Given the description of an element on the screen output the (x, y) to click on. 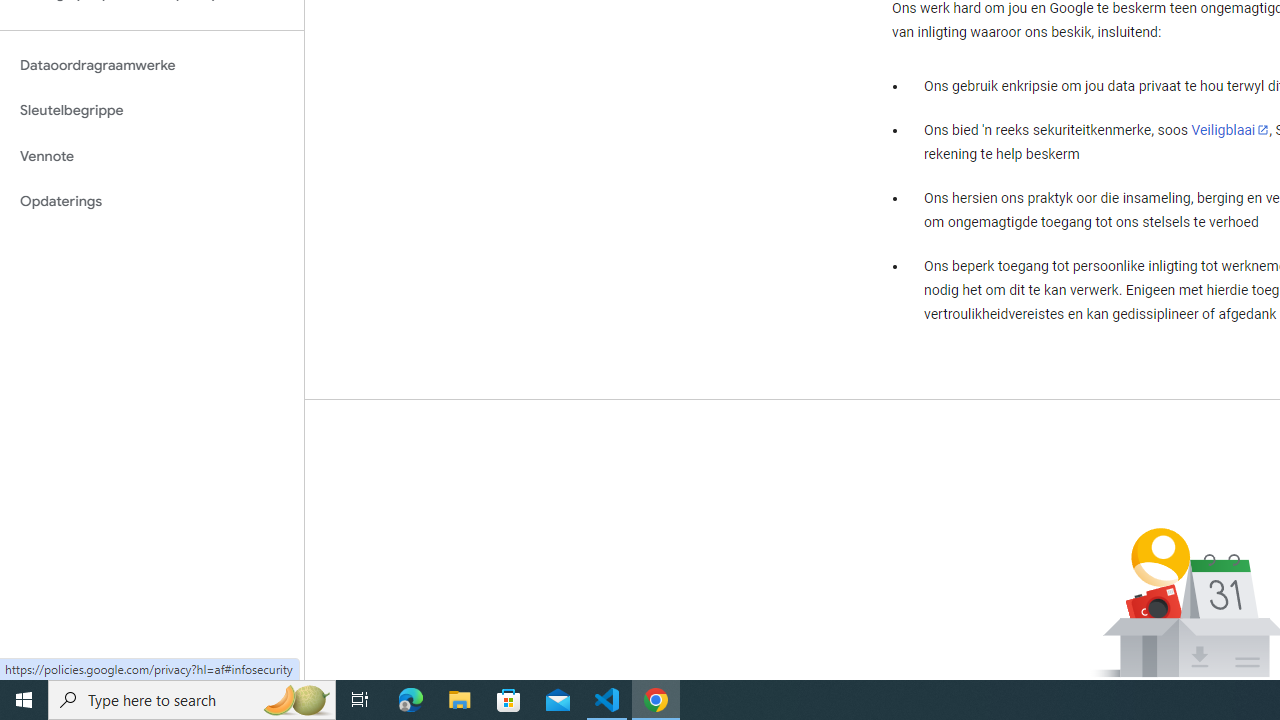
Sleutelbegrippe (152, 110)
Dataoordragraamwerke (152, 65)
Veiligblaai (1229, 129)
Vennote (152, 156)
Opdaterings (152, 201)
